Given the description of an element on the screen output the (x, y) to click on. 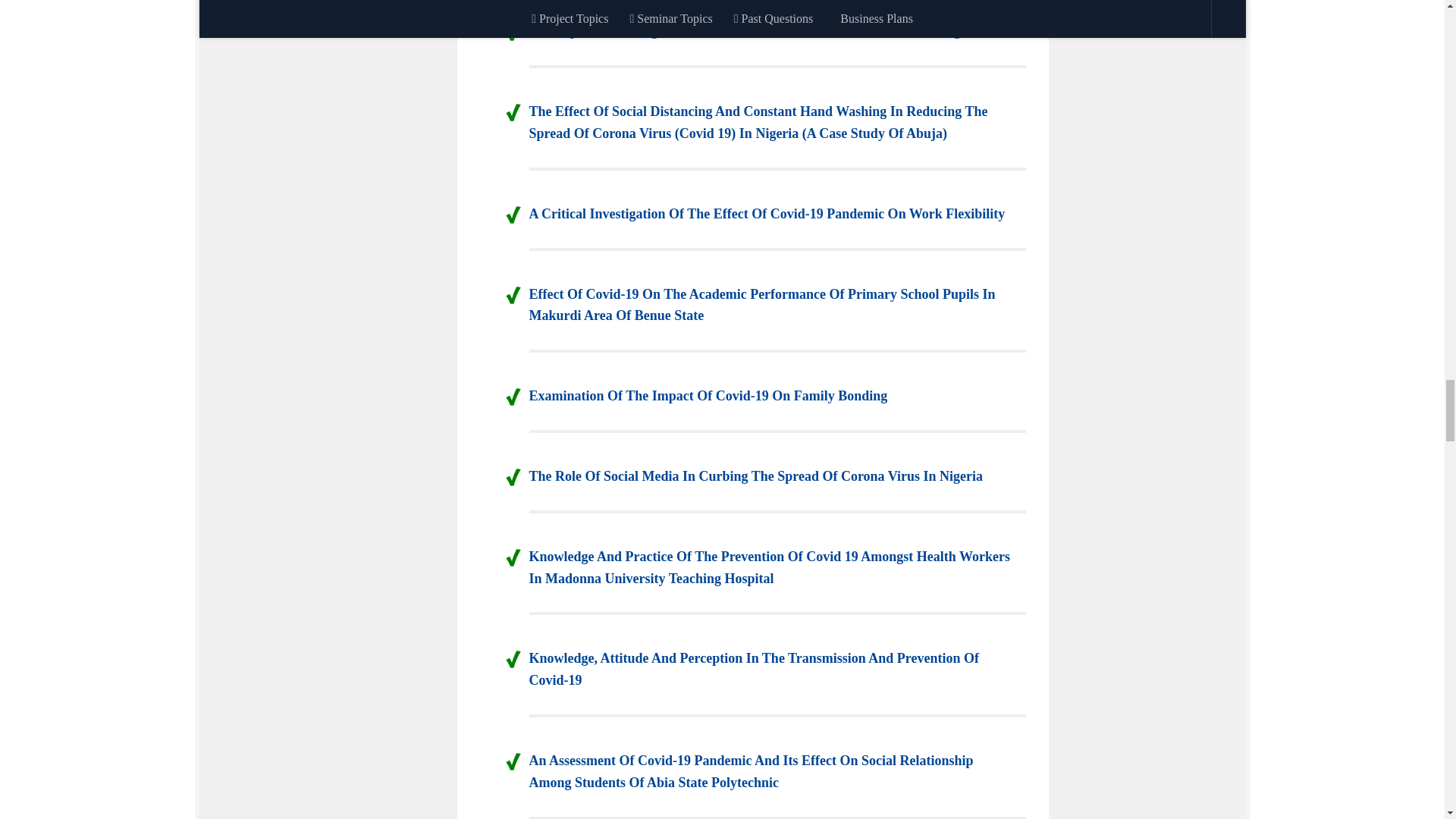
Examination Of The Impact Of Covid-19 On Family Bonding (708, 395)
